Given the description of an element on the screen output the (x, y) to click on. 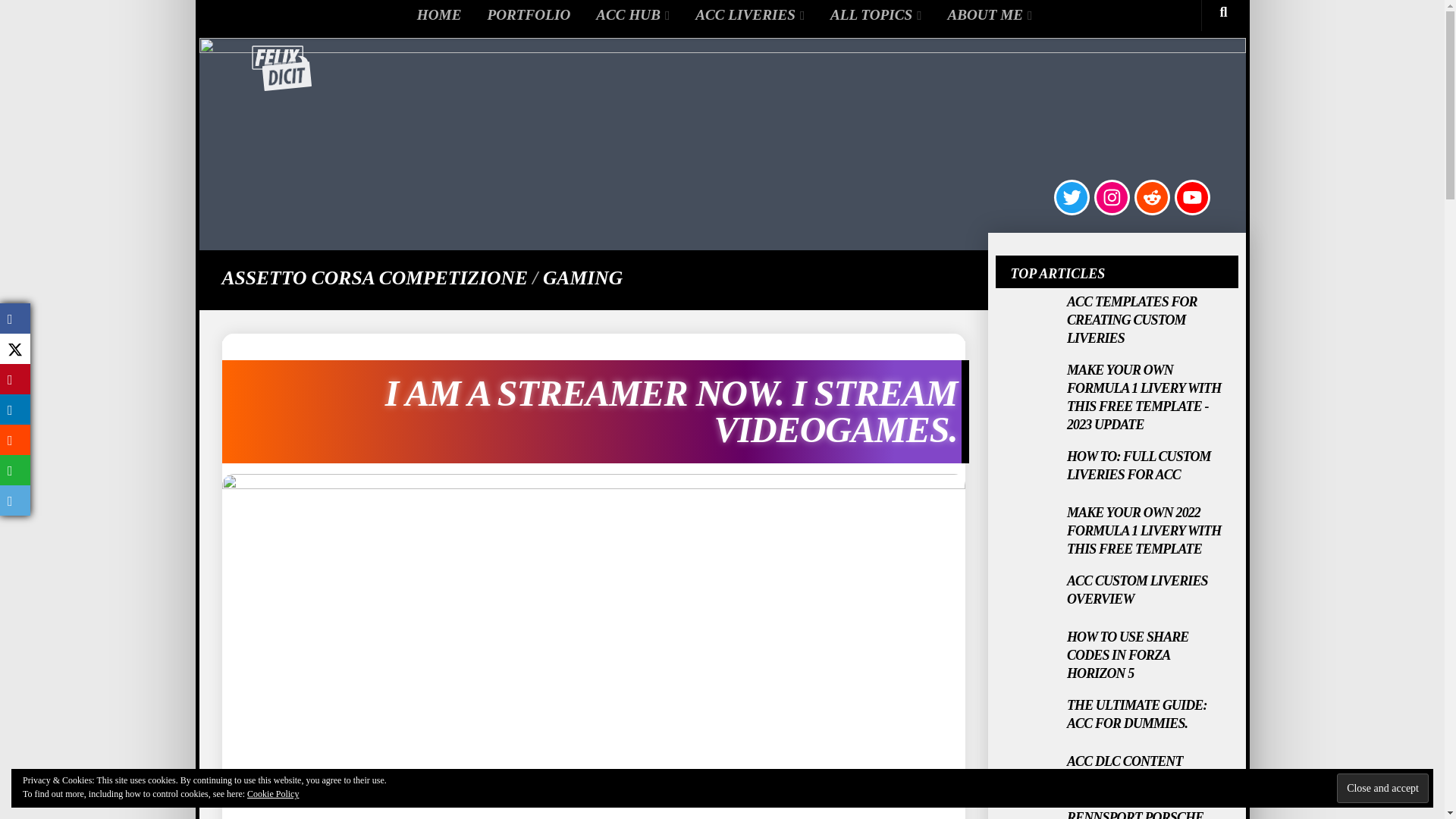
ACC HUB (629, 15)
HOME (436, 15)
PORTFOLIO (525, 15)
Skip to content (254, 20)
Close and accept (1382, 788)
